Given the description of an element on the screen output the (x, y) to click on. 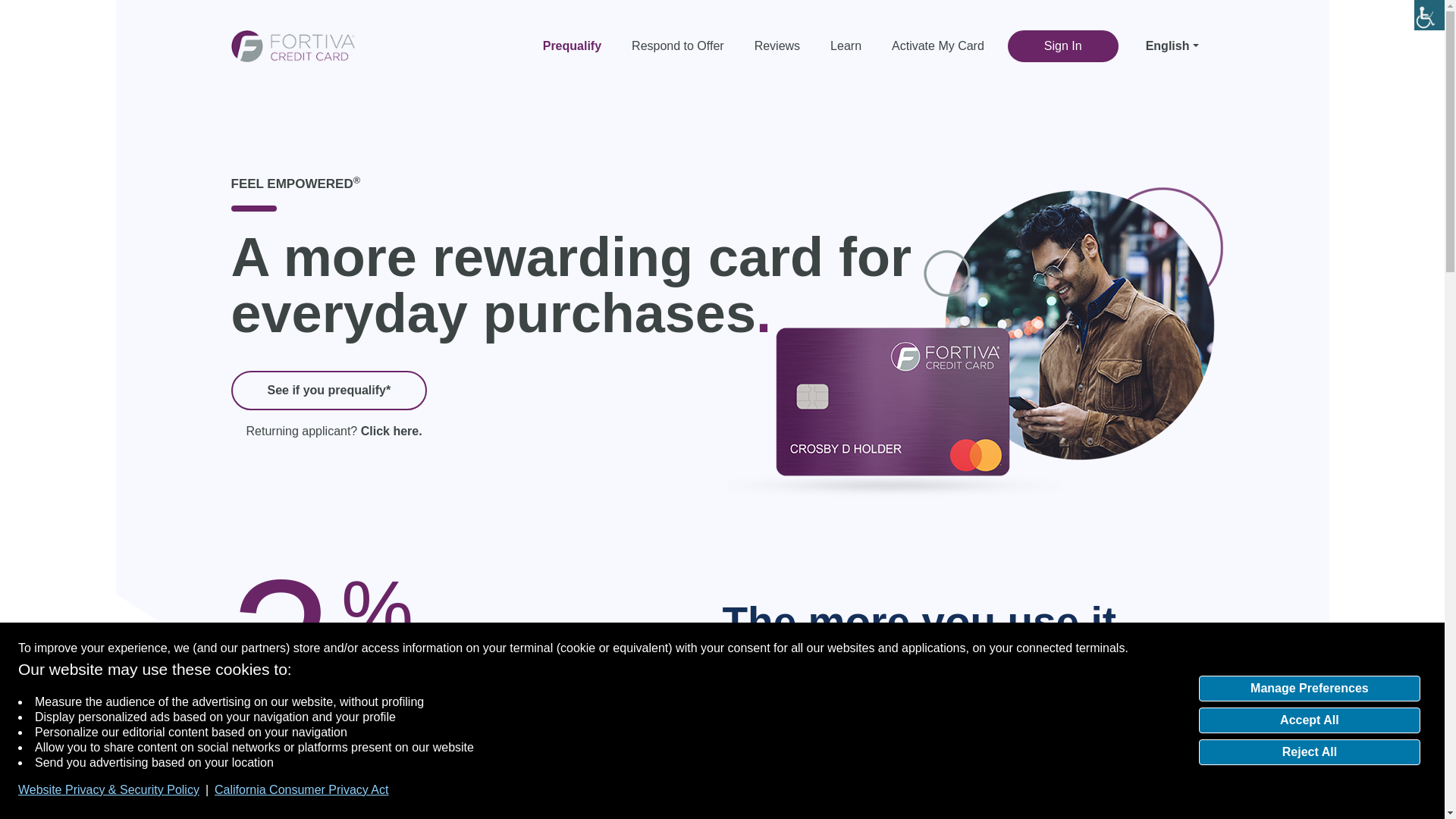
Learn (845, 46)
Reject All (1309, 751)
Reviews (777, 46)
MyFortiva (291, 44)
Prequalify (579, 46)
Respond to Offer (677, 46)
Activate My Card (937, 46)
Manage Preferences (1309, 688)
Accept All (1309, 720)
